Given the description of an element on the screen output the (x, y) to click on. 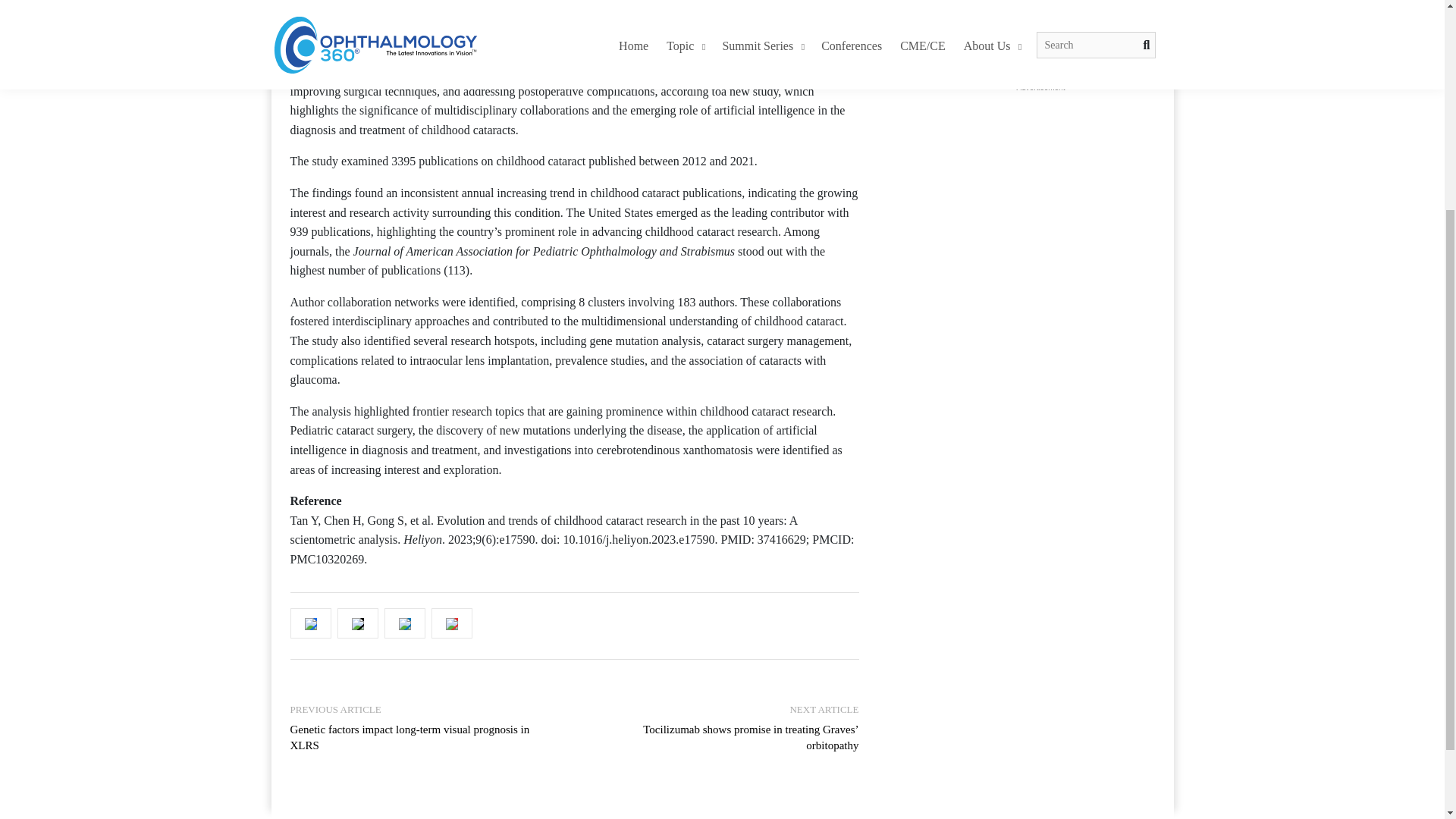
Click to share on Linkedin (404, 623)
Click to share on Facebook  (309, 623)
Click to share on Facebook  (309, 9)
Click to share on Twitter (357, 623)
Click to email link (450, 623)
Click to share on Twitter (357, 9)
Click to email link (450, 9)
Click to share on Linkedin (404, 9)
